Given the description of an element on the screen output the (x, y) to click on. 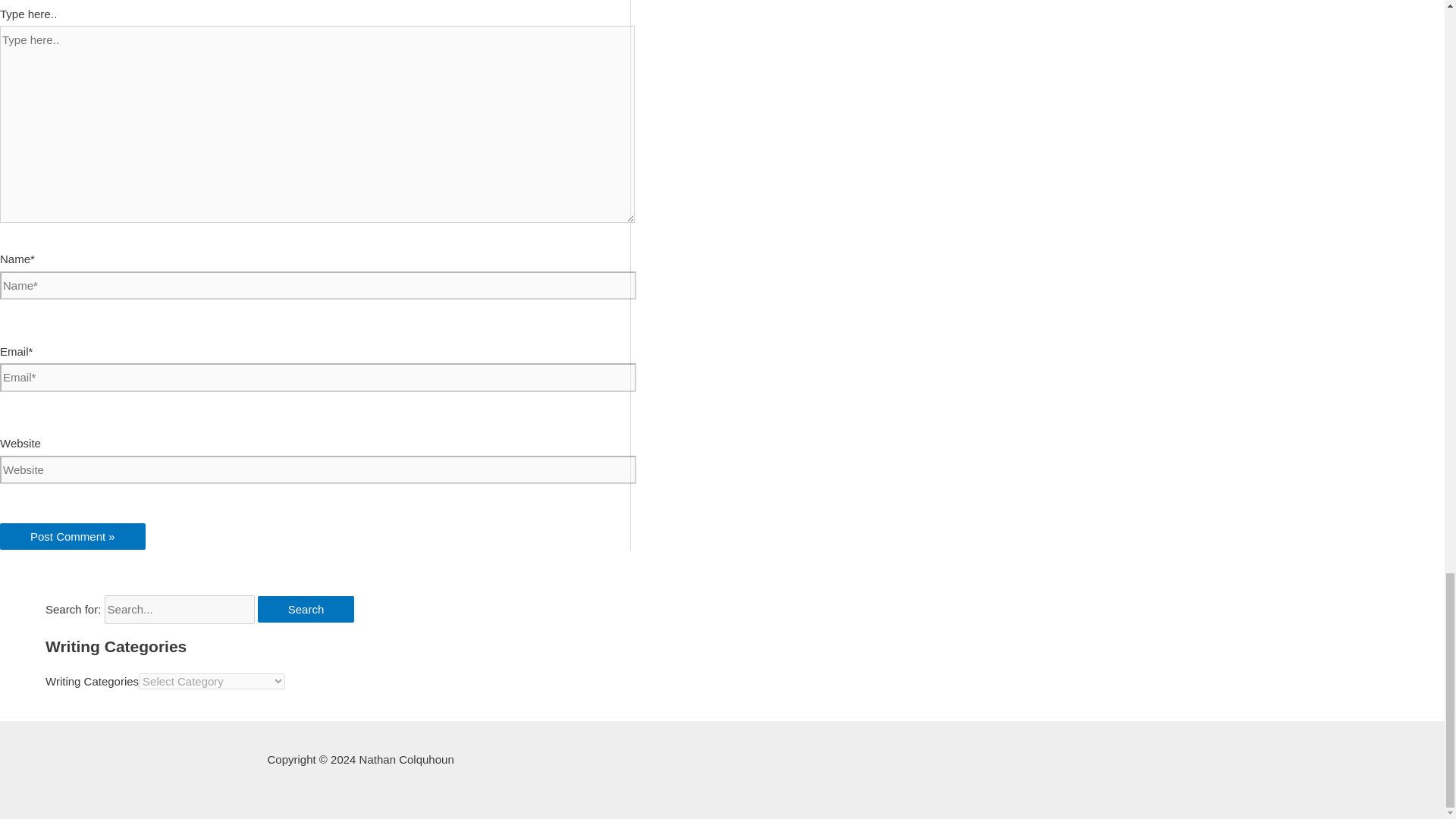
Search (306, 609)
Search (306, 609)
Search (306, 609)
